Given the description of an element on the screen output the (x, y) to click on. 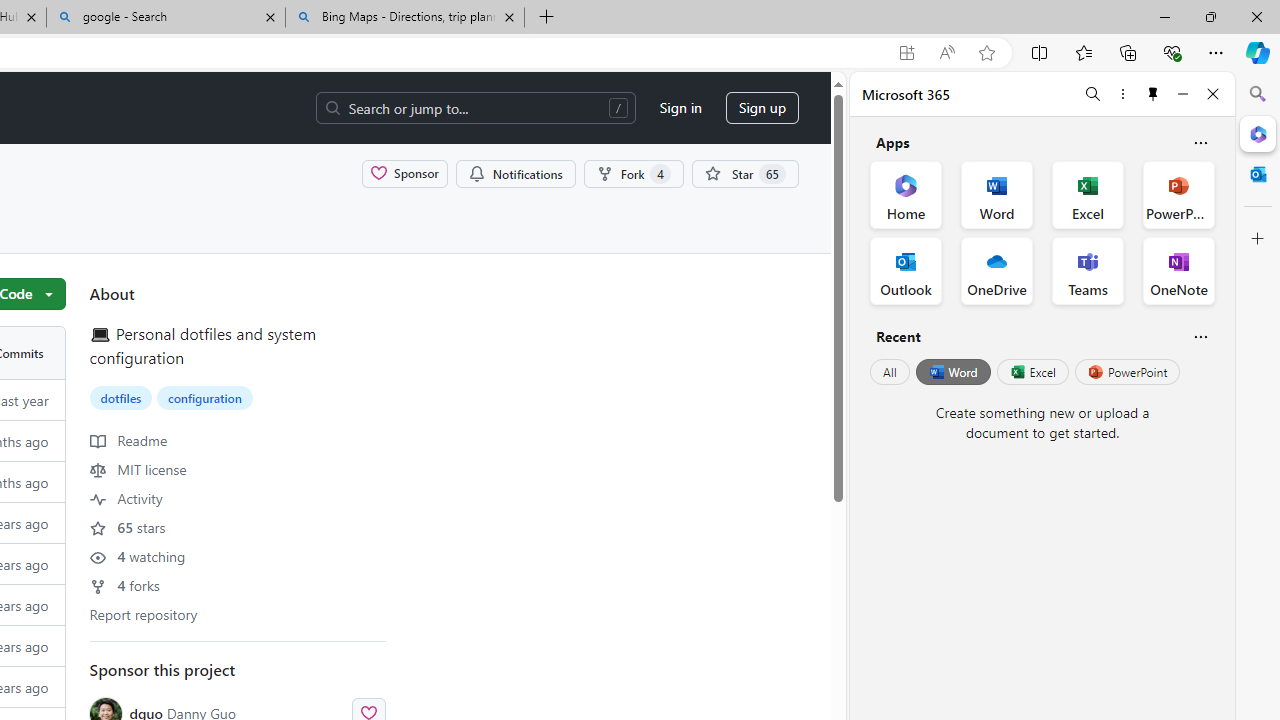
dotfiles (121, 397)
 Star 65 (744, 173)
All (890, 372)
Sponsor dguo/dotfiles (404, 173)
Is this helpful? (1200, 336)
Notifications (515, 173)
